Given the description of an element on the screen output the (x, y) to click on. 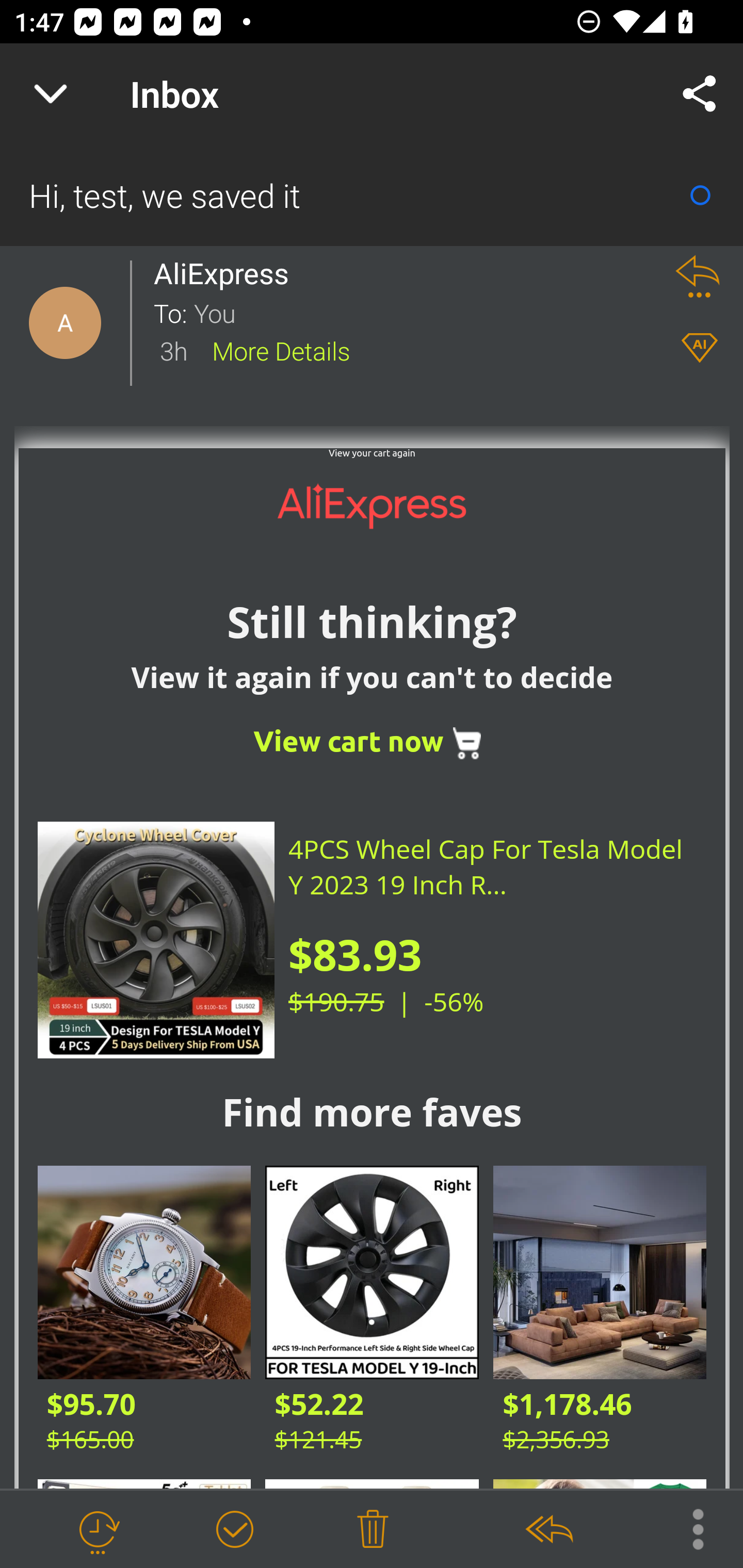
Navigate up (50, 93)
Share (699, 93)
Mark as Read (699, 194)
AliExpress (226, 273)
Contact Details (64, 322)
You (422, 311)
More Details (280, 349)
AliExpress (371, 505)
View cart now 收藏 View cart now 收藏 (371, 743)
Snooze (97, 1529)
Mark as Done (234, 1529)
Delete (372, 1529)
Reply All (548, 1529)
